Given the description of an element on the screen output the (x, y) to click on. 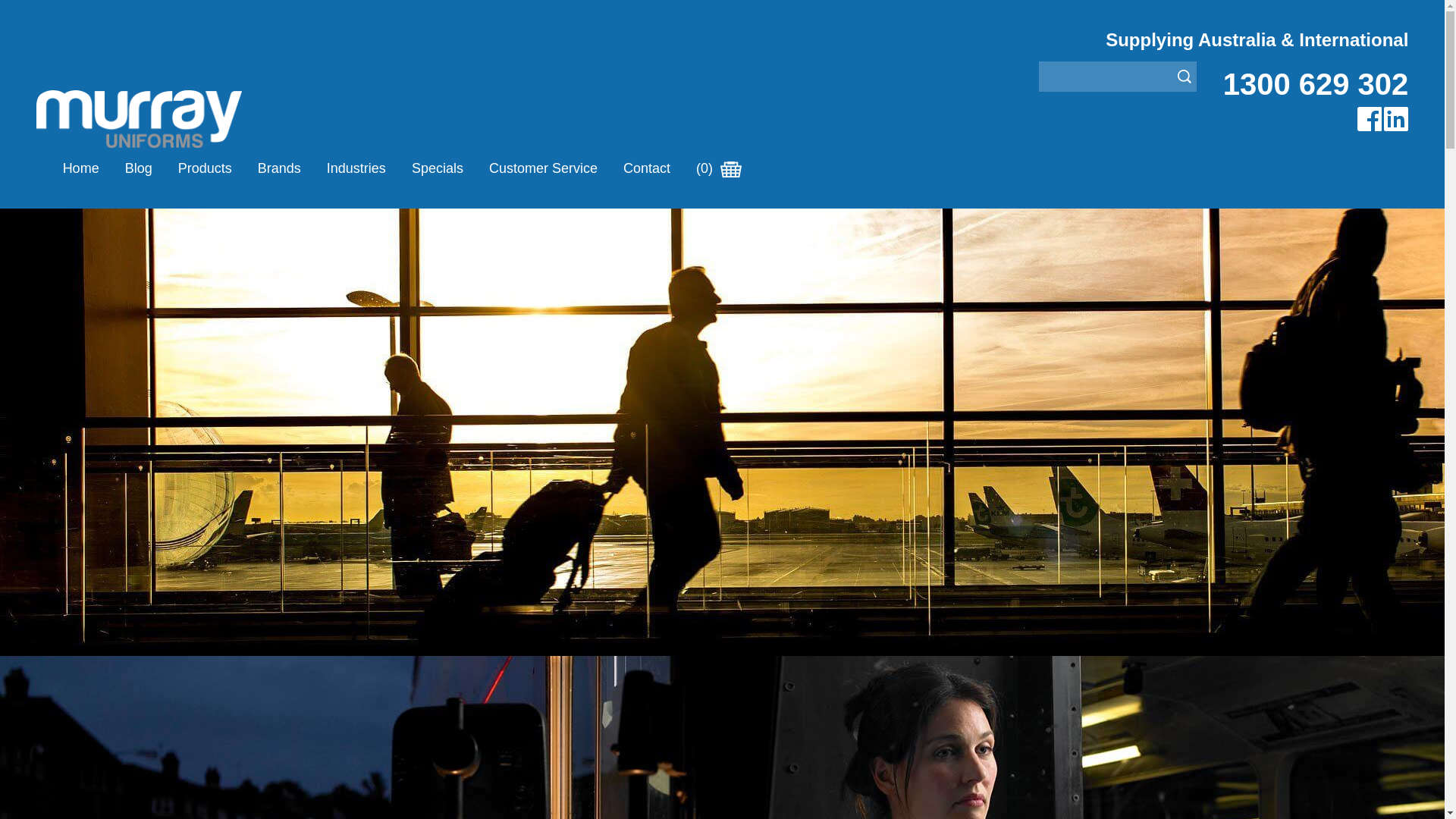
Blog Element type: text (138, 168)
Contact Element type: text (646, 168)
Cart Element type: hover (730, 169)
Brands Element type: text (278, 168)
(0) Element type: text (720, 167)
Customer Service Element type: text (543, 168)
Home Element type: text (81, 168)
Follow Us on Linkedin Element type: hover (1395, 118)
Industries Element type: text (355, 168)
1300 629 302 Element type: text (1315, 83)
Murray Uniforms Australia Element type: hover (138, 118)
Like us on Facebook Element type: hover (1369, 118)
Products Element type: text (204, 168)
Specials Element type: text (437, 168)
